Given the description of an element on the screen output the (x, y) to click on. 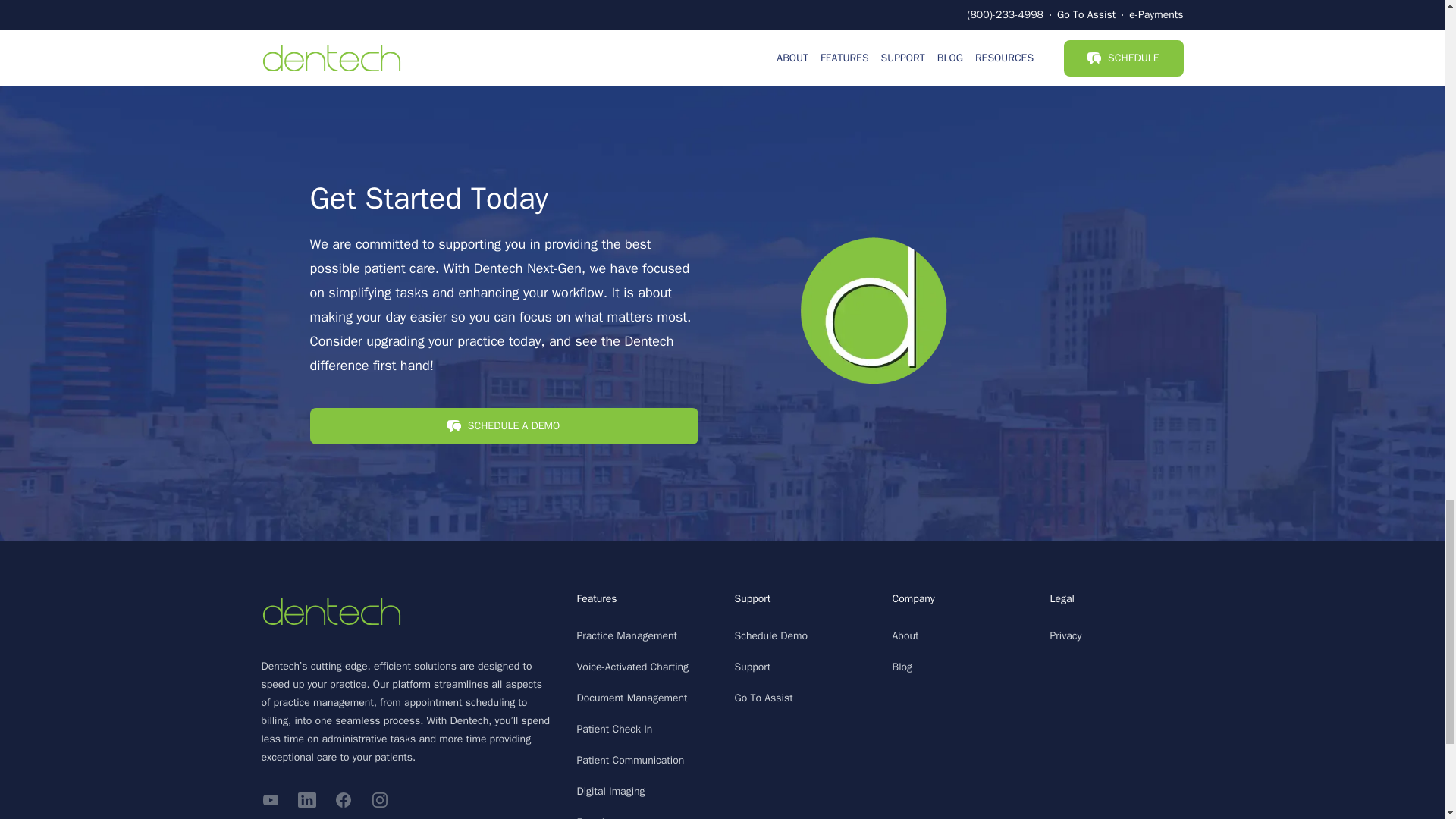
SCHEDULE A DEMO (502, 429)
Digital Imaging (610, 790)
Patient Check-In (614, 728)
Blog (901, 666)
Document Management (631, 697)
Instagram (378, 800)
About (904, 635)
Support (751, 666)
Go To Assist (762, 697)
Privacy (1065, 635)
Patient Communication (630, 759)
Eservices (598, 817)
LinkedIn (306, 800)
Facebook (342, 800)
Schedule Demo (769, 635)
